Given the description of an element on the screen output the (x, y) to click on. 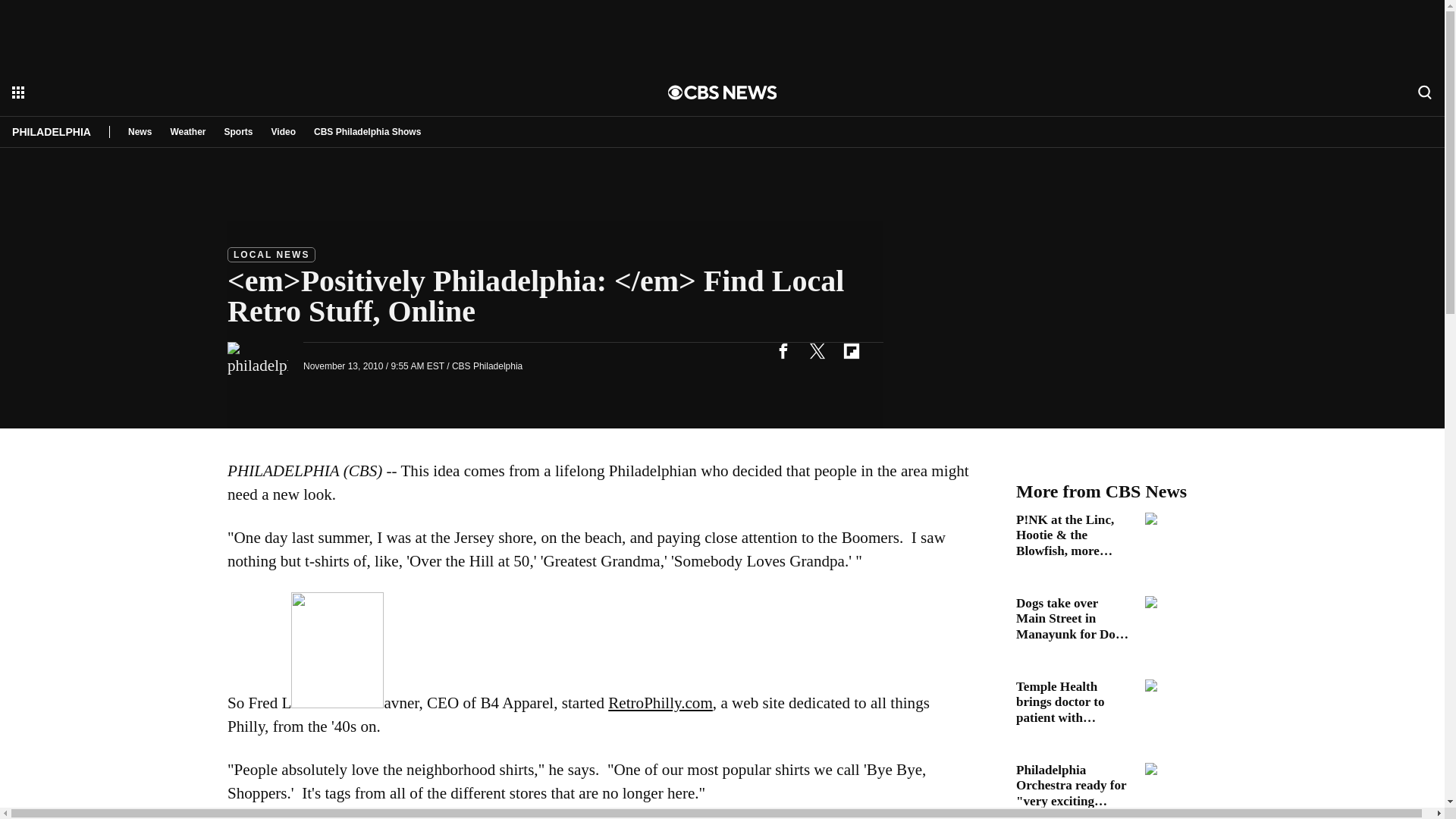
flipboard (850, 350)
facebook (782, 350)
twitter (816, 350)
